Given the description of an element on the screen output the (x, y) to click on. 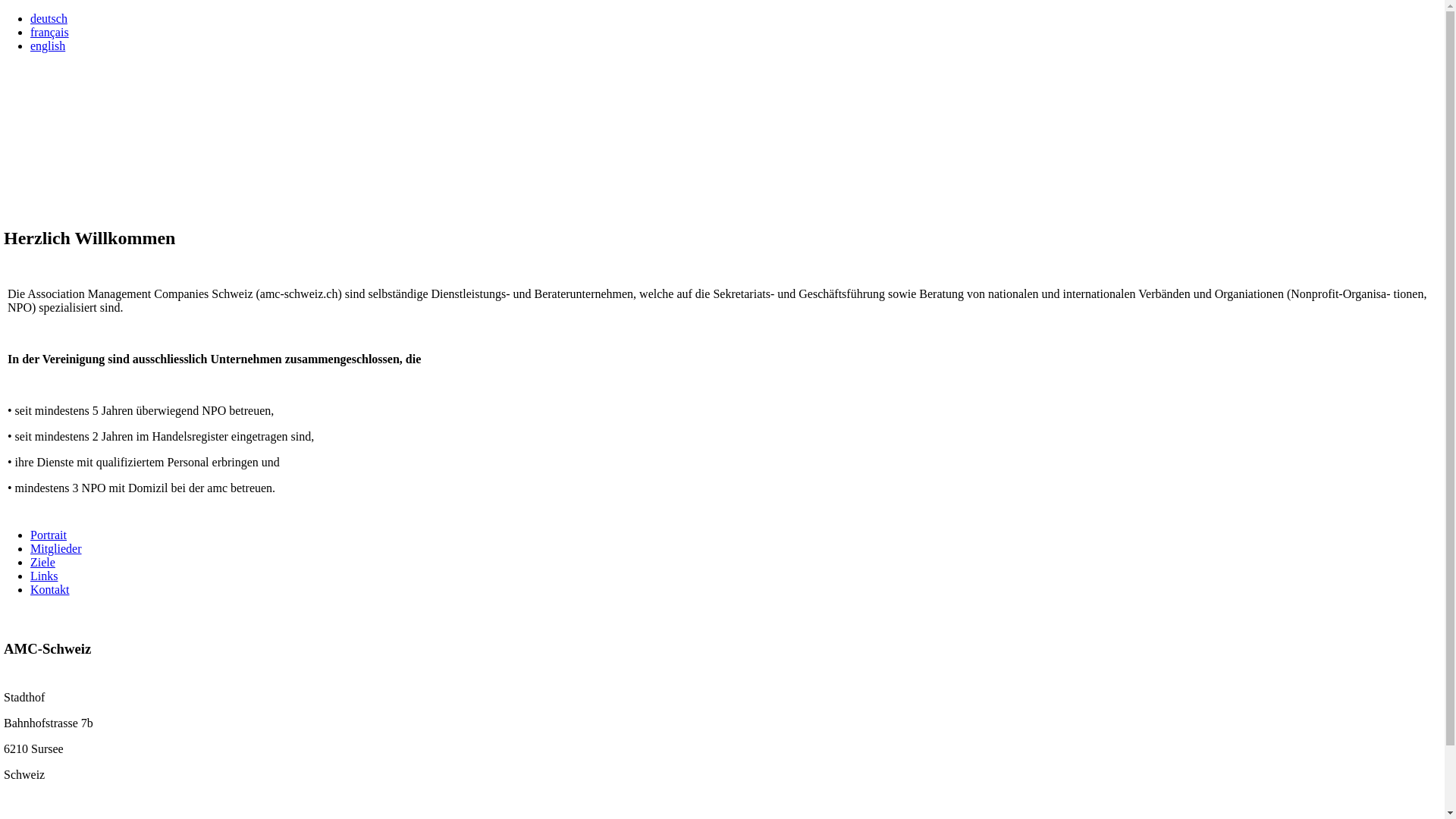
Ziele Element type: text (42, 561)
Kontakt Element type: text (49, 589)
english Element type: text (47, 45)
Portrait Element type: text (48, 534)
Links Element type: text (43, 575)
deutsch Element type: text (48, 18)
Mitglieder Element type: text (55, 548)
